Given the description of an element on the screen output the (x, y) to click on. 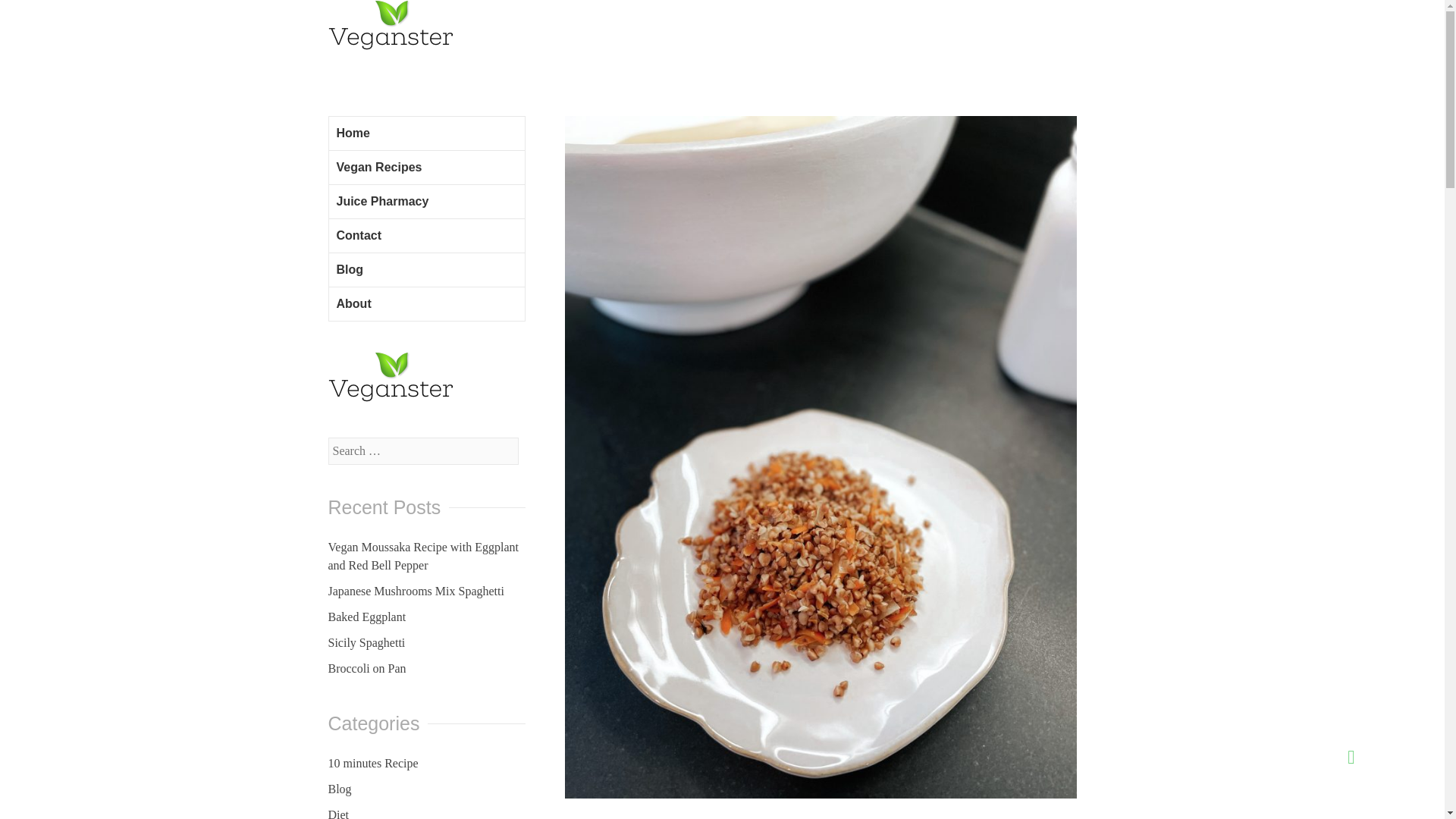
Sicily Spaghetti (365, 643)
About (426, 304)
Home (426, 133)
Japanese Mushrooms Mix Spaghetti (415, 591)
Blog (426, 270)
Juice Pharmacy (426, 202)
Diet (338, 813)
Contact (426, 236)
10 minutes Recipe (372, 763)
Blog (338, 789)
Vegan Moussaka Recipe with Eggplant and Red Bell Pepper (422, 556)
Vegan Recipes (426, 167)
Broccoli on Pan (366, 668)
Baked Eggplant (366, 617)
